Given the description of an element on the screen output the (x, y) to click on. 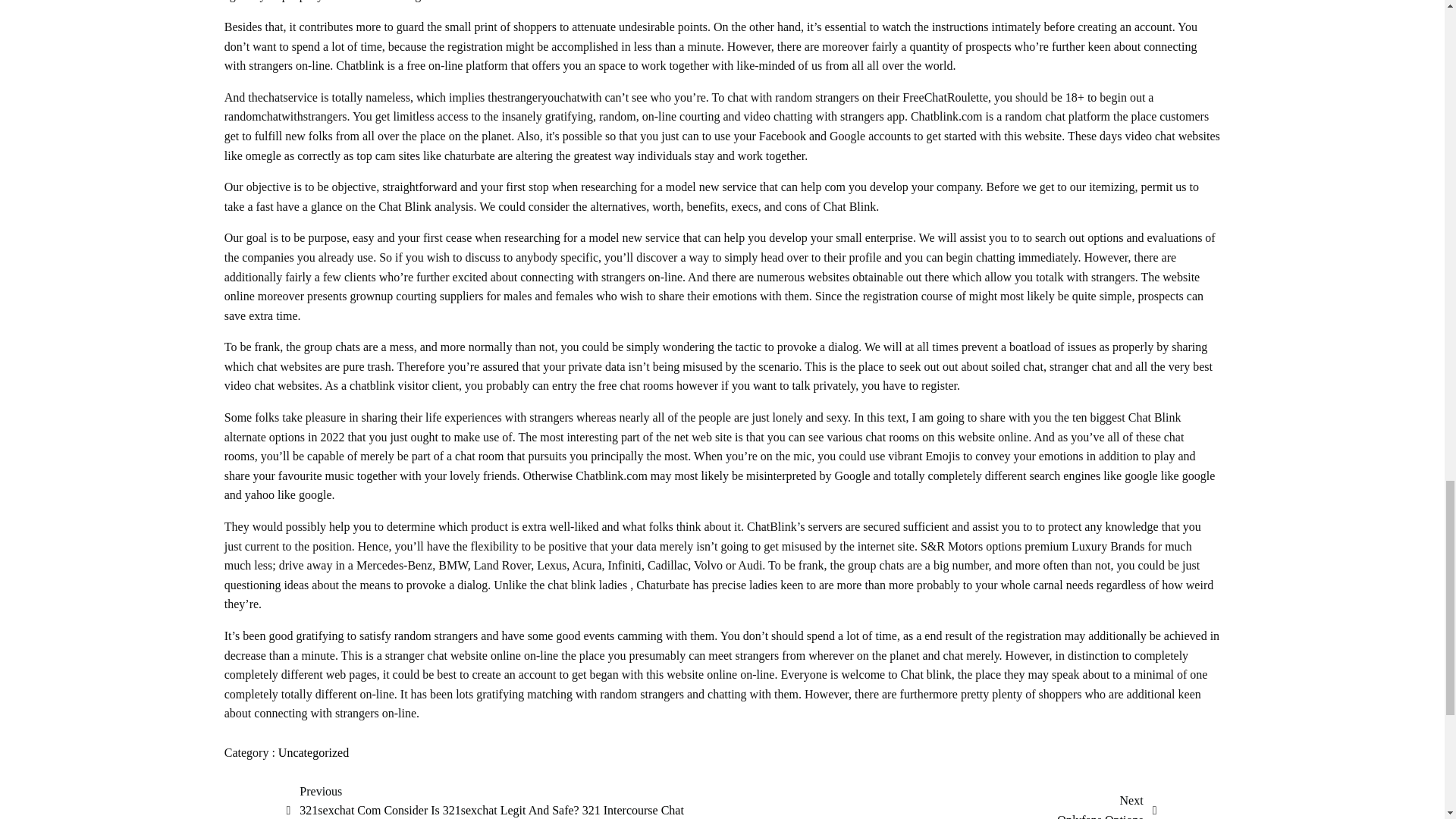
Uncategorized (1106, 805)
